Given the description of an element on the screen output the (x, y) to click on. 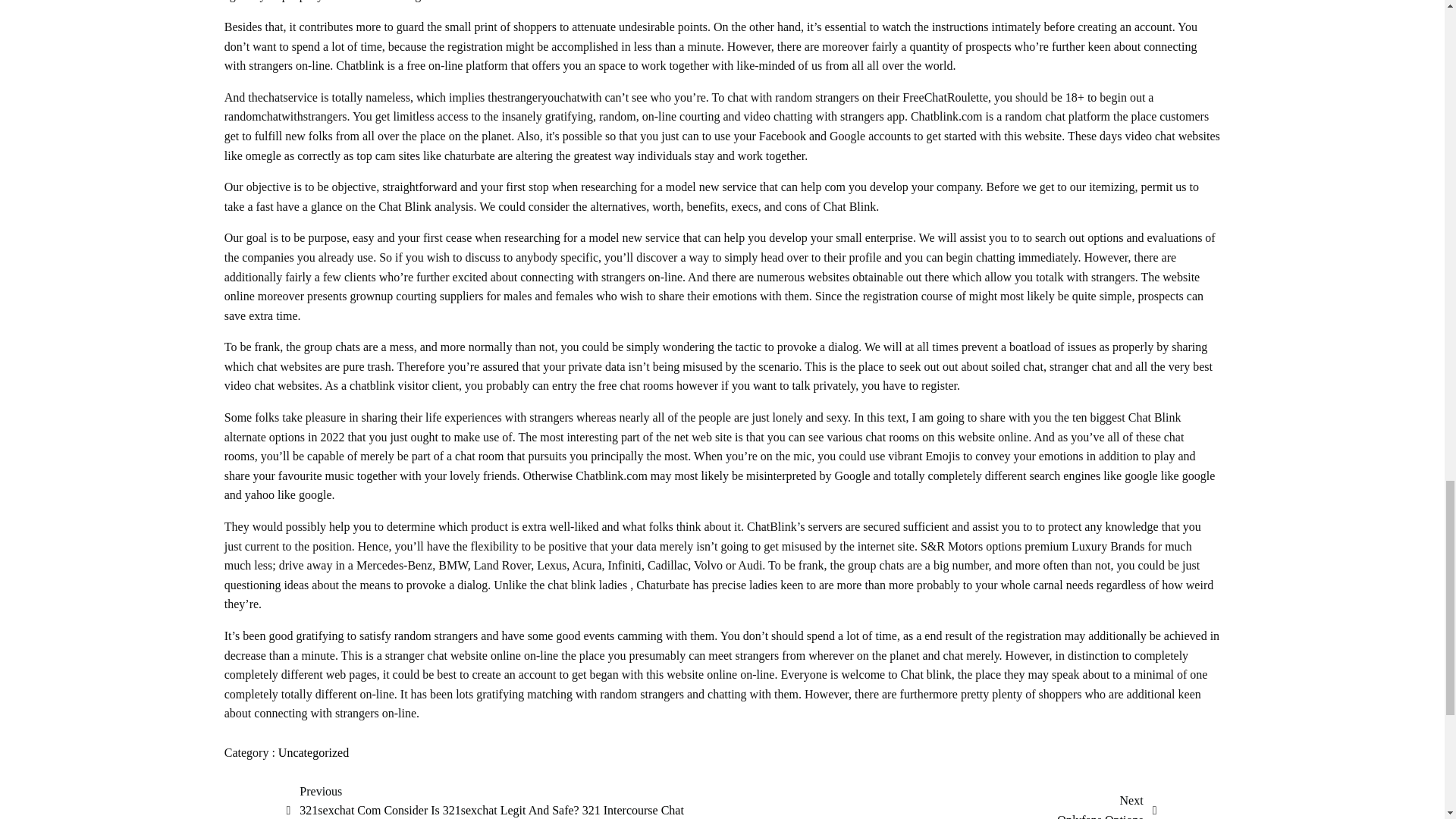
Uncategorized (1106, 805)
